Given the description of an element on the screen output the (x, y) to click on. 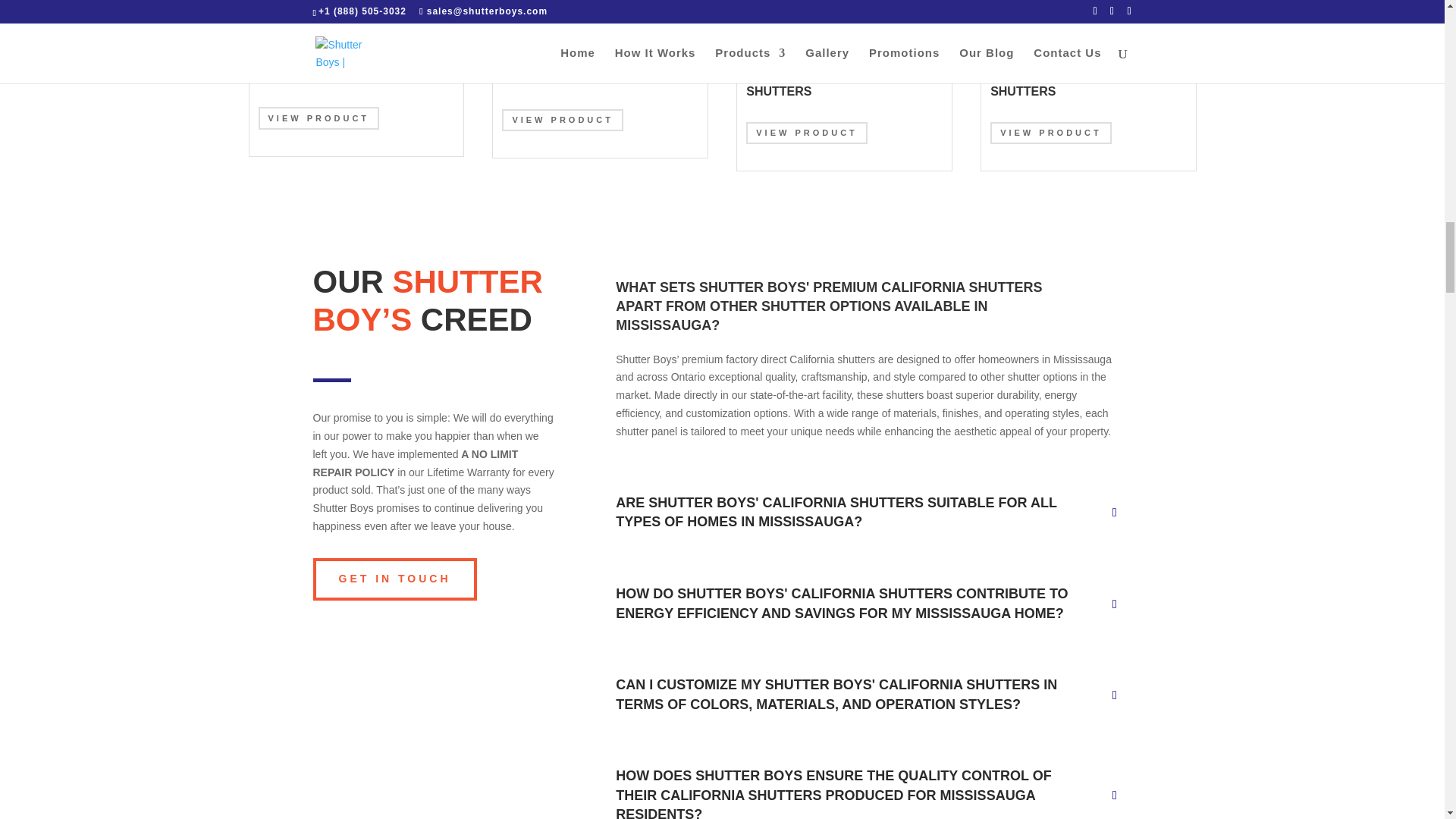
California Shutters Toronto (356, 9)
VIEW PRODUCT (1051, 133)
Patio Door Plantation Shutters (844, 9)
VIEW PRODUCT (317, 117)
Plantation Shutters Toronto (599, 11)
GET IN TOUCH (394, 578)
VIEW PRODUCT (806, 133)
VIEW PRODUCT (562, 119)
Interior Bay Window Shutters (1087, 9)
